Given the description of an element on the screen output the (x, y) to click on. 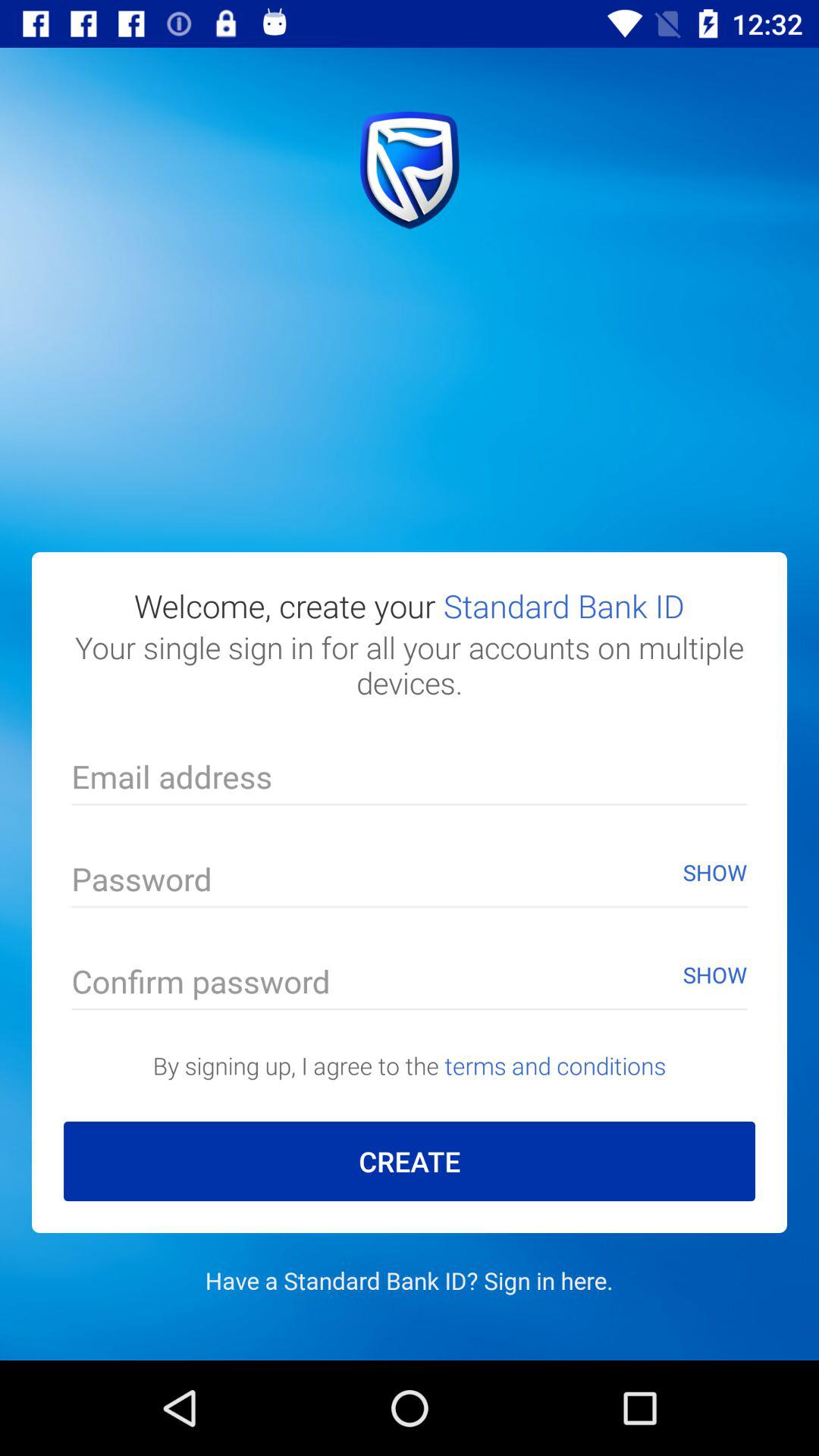
press the welcome create your item (409, 605)
